Given the description of an element on the screen output the (x, y) to click on. 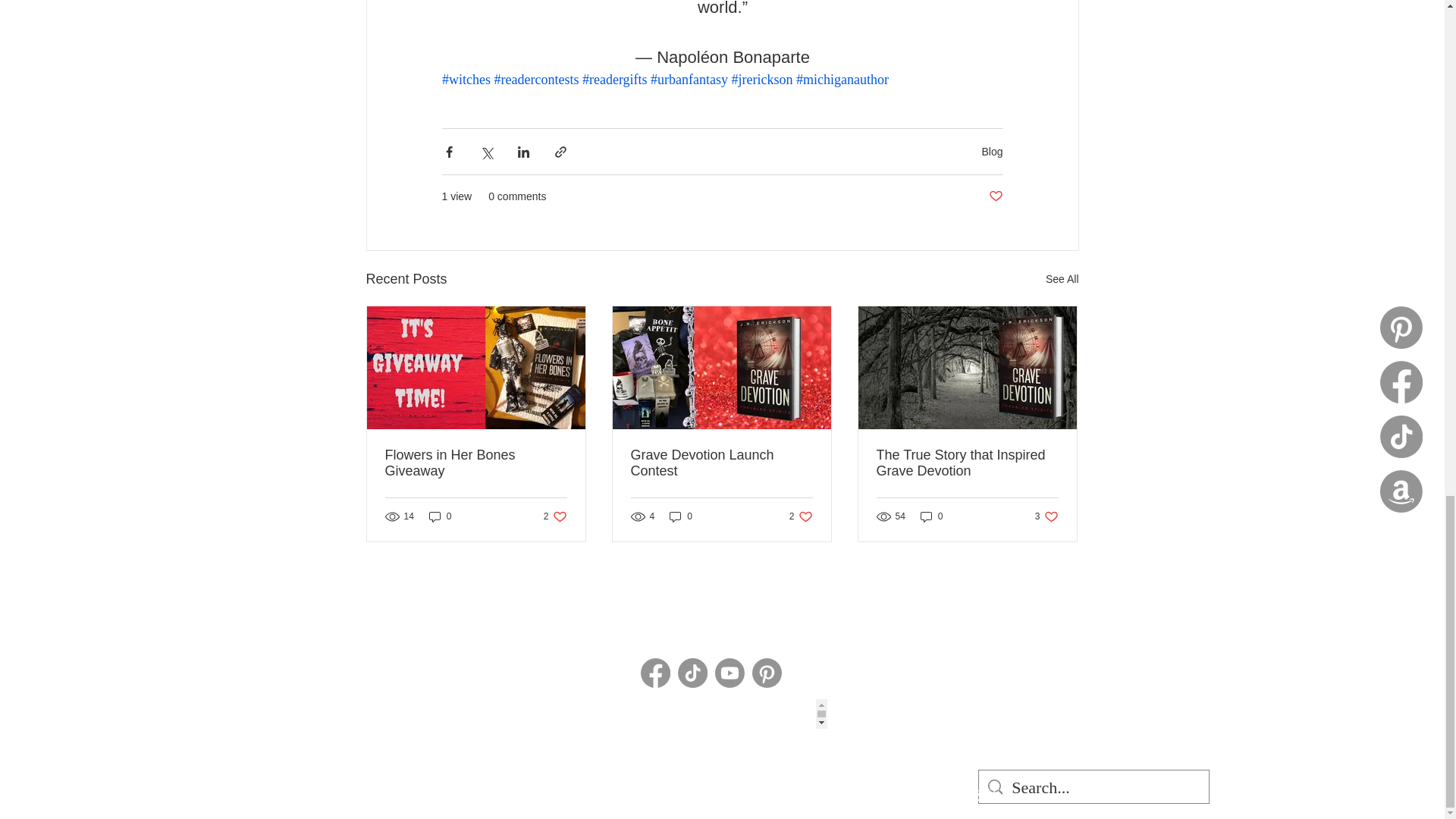
See All (1061, 279)
Post not marked as liked (995, 196)
Embedded Content (706, 713)
Blog (992, 151)
